Given the description of an element on the screen output the (x, y) to click on. 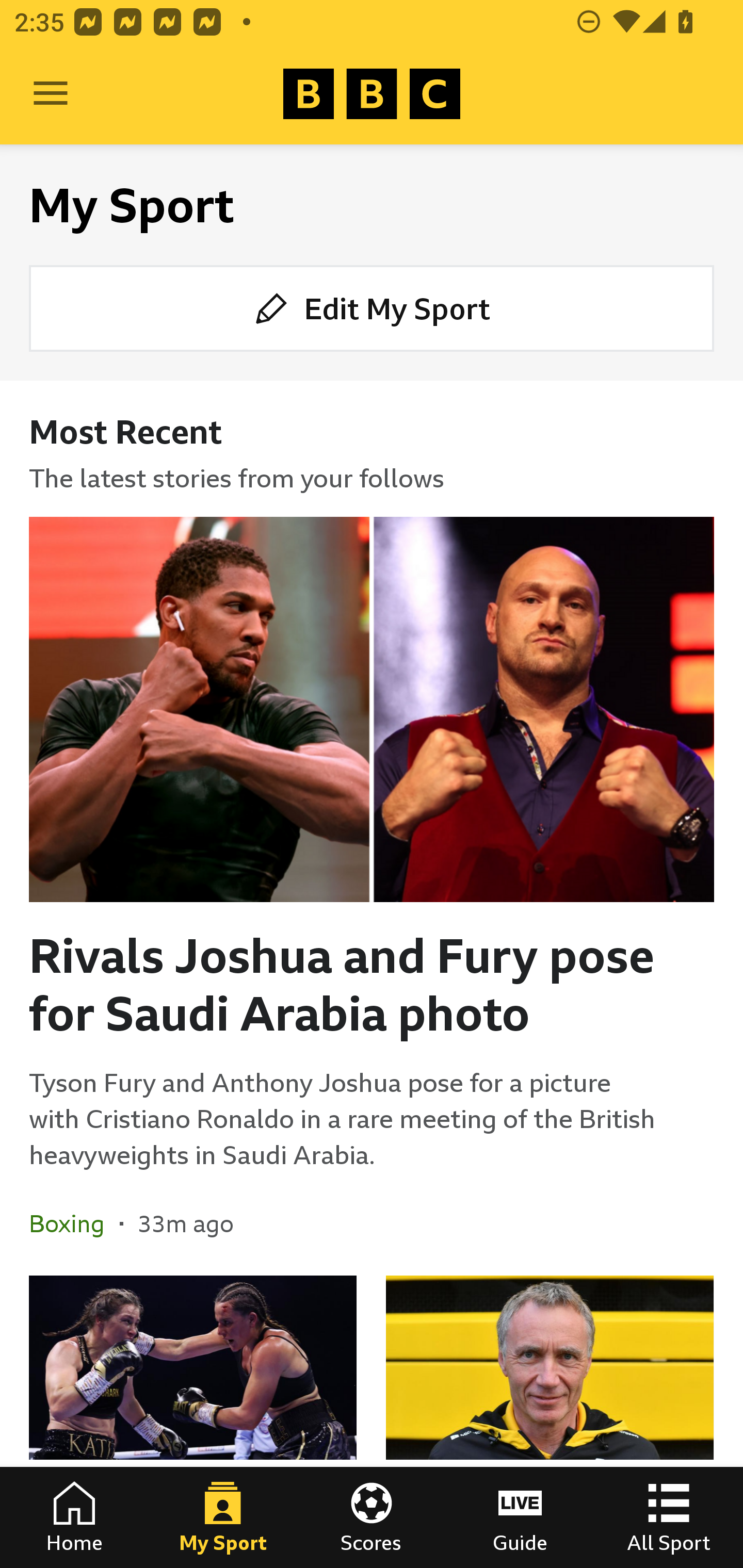
Open Menu (50, 93)
Edit My Sport (371, 307)
Taylor-Cameron trilogy will happen in 2024 - Hearn (192, 1421)
Engineer Bell leaves struggling Alpine (549, 1421)
Home (74, 1517)
Scores (371, 1517)
Guide (519, 1517)
All Sport (668, 1517)
